Given the description of an element on the screen output the (x, y) to click on. 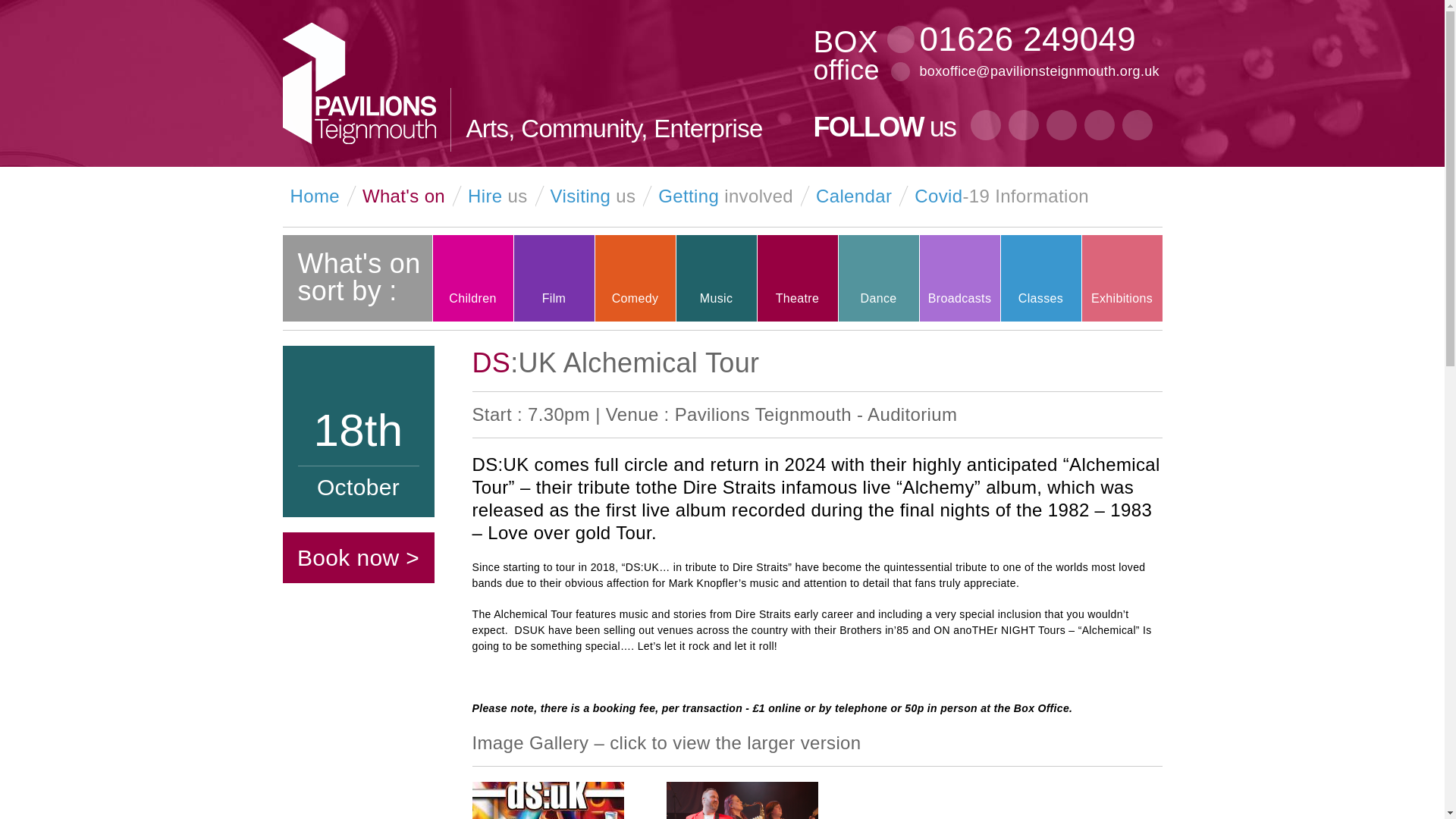
Covid-19 Information (997, 196)
Twitter (1024, 124)
Dance (878, 278)
Getting involved (721, 196)
Facebook (986, 124)
Children (472, 278)
YouTube (1061, 125)
Calendar (849, 196)
Comedy (634, 278)
Telephone Number (900, 39)
Your account (1150, 196)
Broadcasts (958, 278)
YouTube (1061, 124)
Your account (1150, 193)
Pinterest (1099, 124)
